Given the description of an element on the screen output the (x, y) to click on. 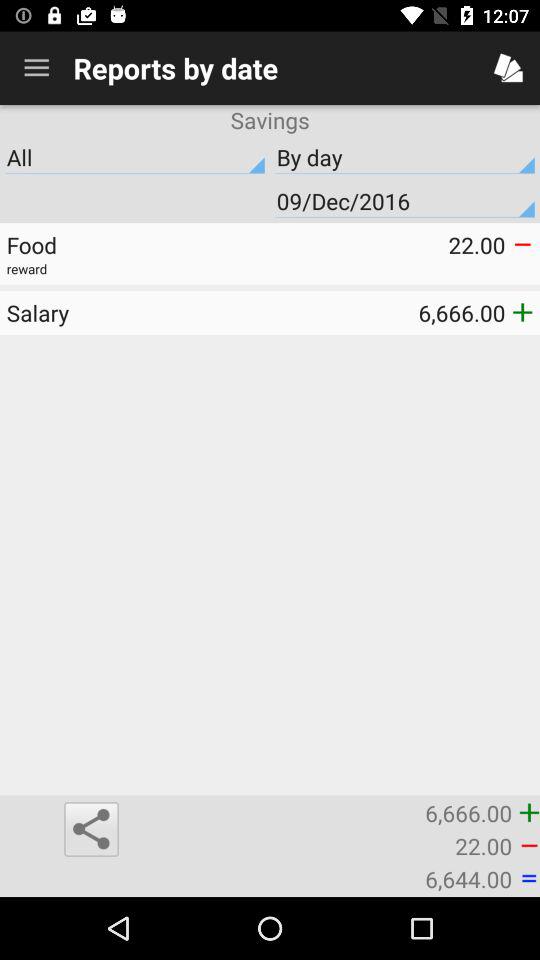
choose icon to the left of the reports by date (36, 68)
